Given the description of an element on the screen output the (x, y) to click on. 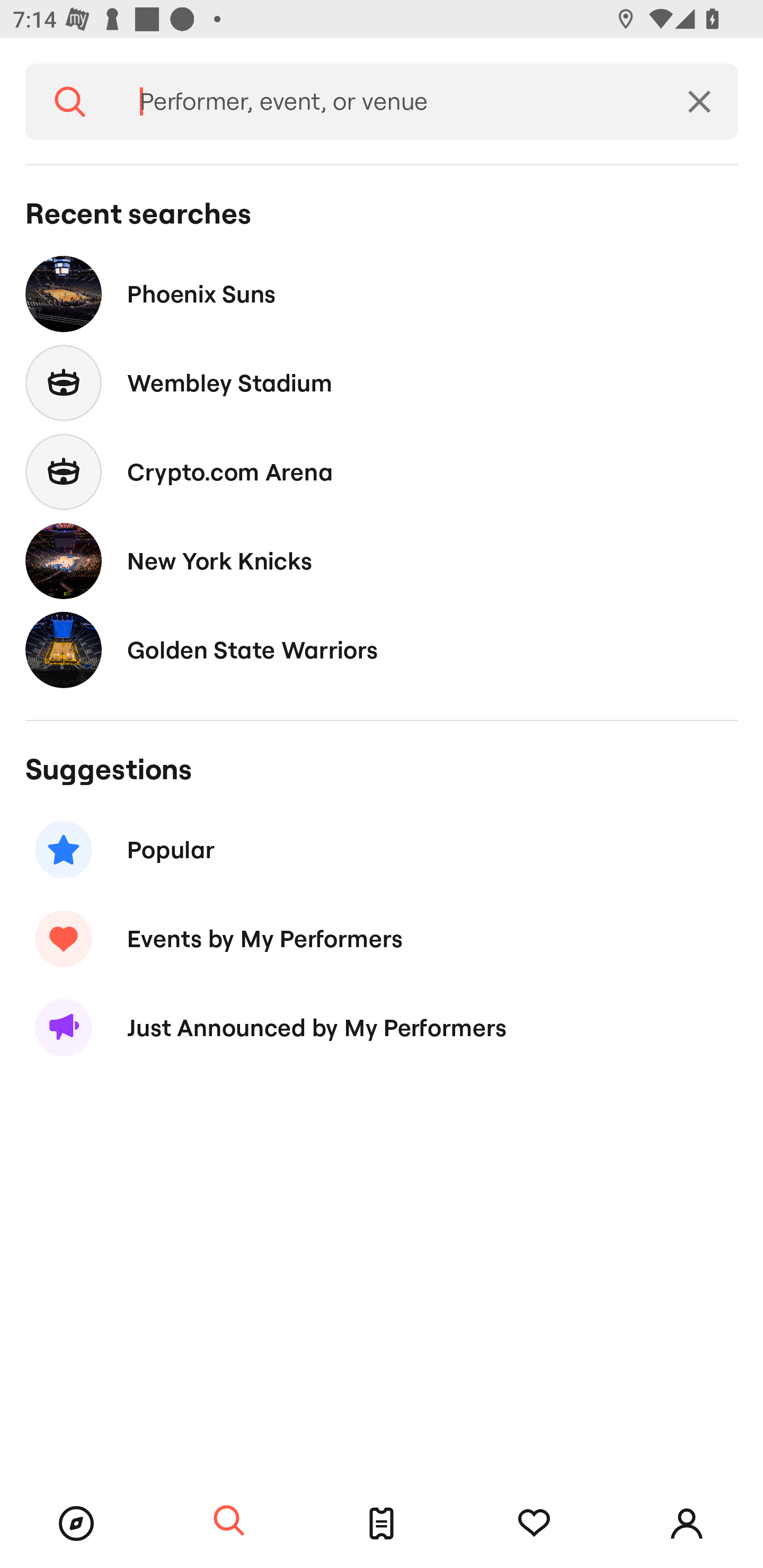
Search (69, 101)
Performer, event, or venue (387, 101)
Clear (699, 101)
Phoenix Suns (381, 293)
Wembley Stadium (381, 383)
Crypto.com Arena (381, 471)
New York Knicks (381, 560)
Golden State Warriors (381, 649)
Popular (381, 849)
Events by My Performers (381, 938)
Just Announced by My Performers (381, 1027)
Browse (76, 1523)
Search (228, 1521)
Tickets (381, 1523)
Tracking (533, 1523)
Account (686, 1523)
